Given the description of an element on the screen output the (x, y) to click on. 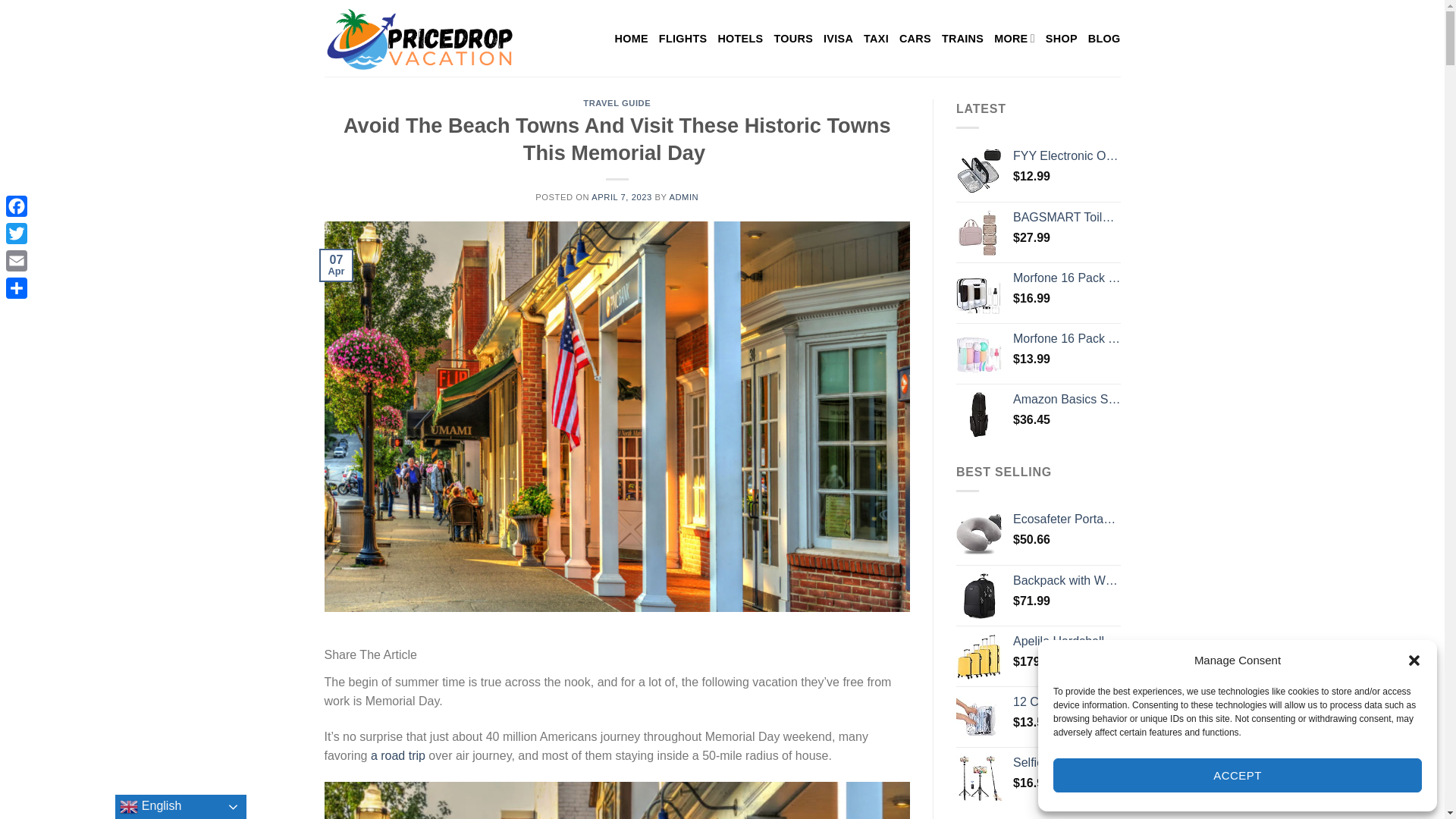
APRIL 7, 2023 (621, 196)
Twitter (16, 233)
SHOP (1061, 37)
MORE (1014, 38)
CARS (915, 37)
TOURS (792, 37)
ACCEPT (1237, 775)
TAXI (875, 37)
ADMIN (683, 196)
HOME (630, 37)
IVISA (838, 37)
Pricedropvacation - Get Deals on flights and hotels (418, 38)
TRAVEL GUIDE (616, 102)
Email (16, 260)
HOTELS (739, 37)
